Given the description of an element on the screen output the (x, y) to click on. 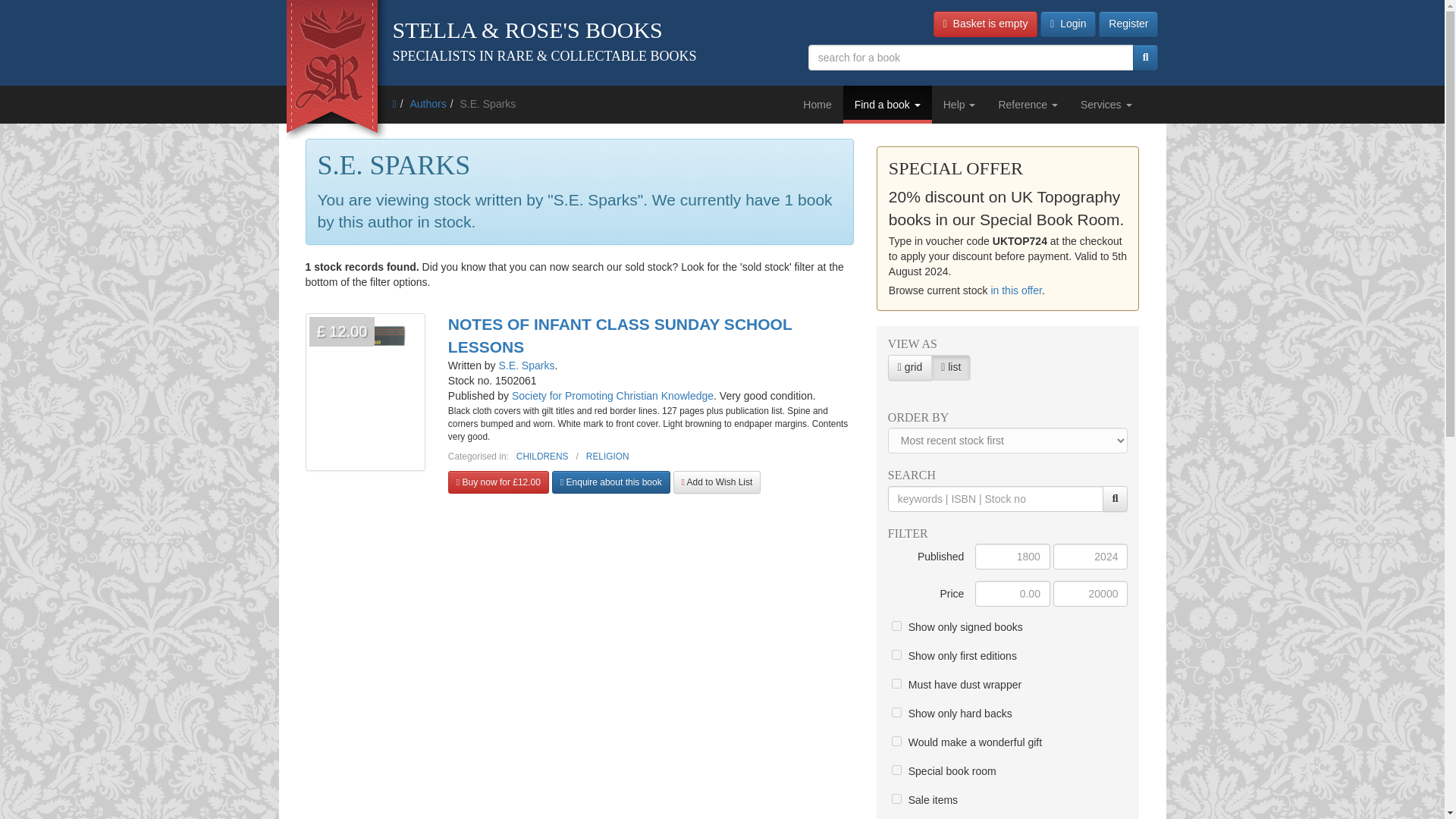
Authors (427, 103)
Register (1128, 23)
grid (902, 368)
Services (1105, 104)
Y (896, 712)
Home (817, 104)
Find a book (887, 104)
  Basket is empty (985, 23)
Y (896, 655)
  Login (1068, 23)
Authors (427, 103)
Y (896, 769)
Reference (1027, 104)
Y (896, 798)
